Given the description of an element on the screen output the (x, y) to click on. 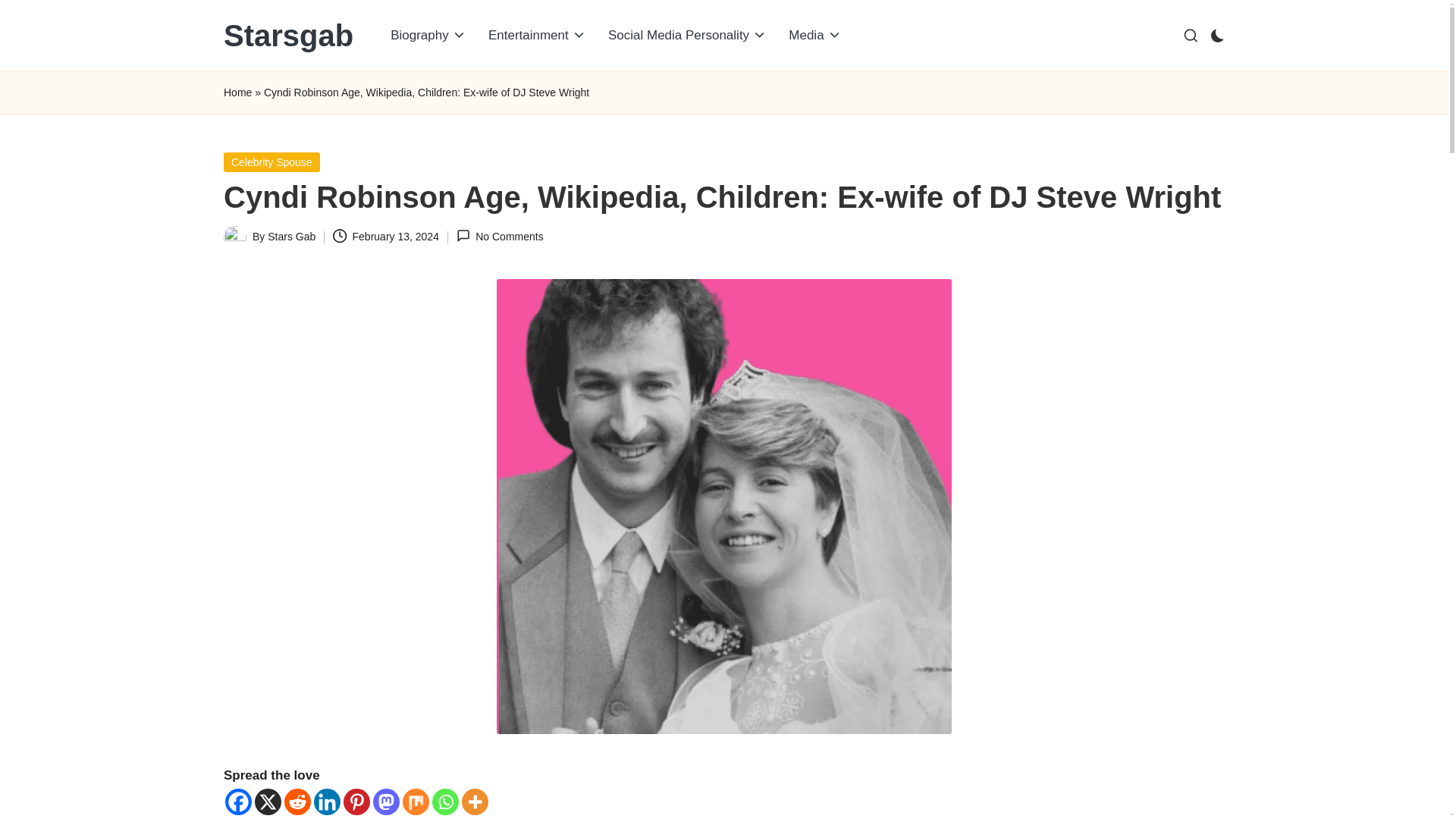
Pinterest (356, 801)
More (474, 801)
Facebook (238, 801)
Mix (416, 801)
X (267, 801)
Linkedin (327, 801)
Reddit (297, 801)
Biography (428, 35)
View all posts by Stars Gab (291, 236)
Social Media Personality (686, 35)
